Given the description of an element on the screen output the (x, y) to click on. 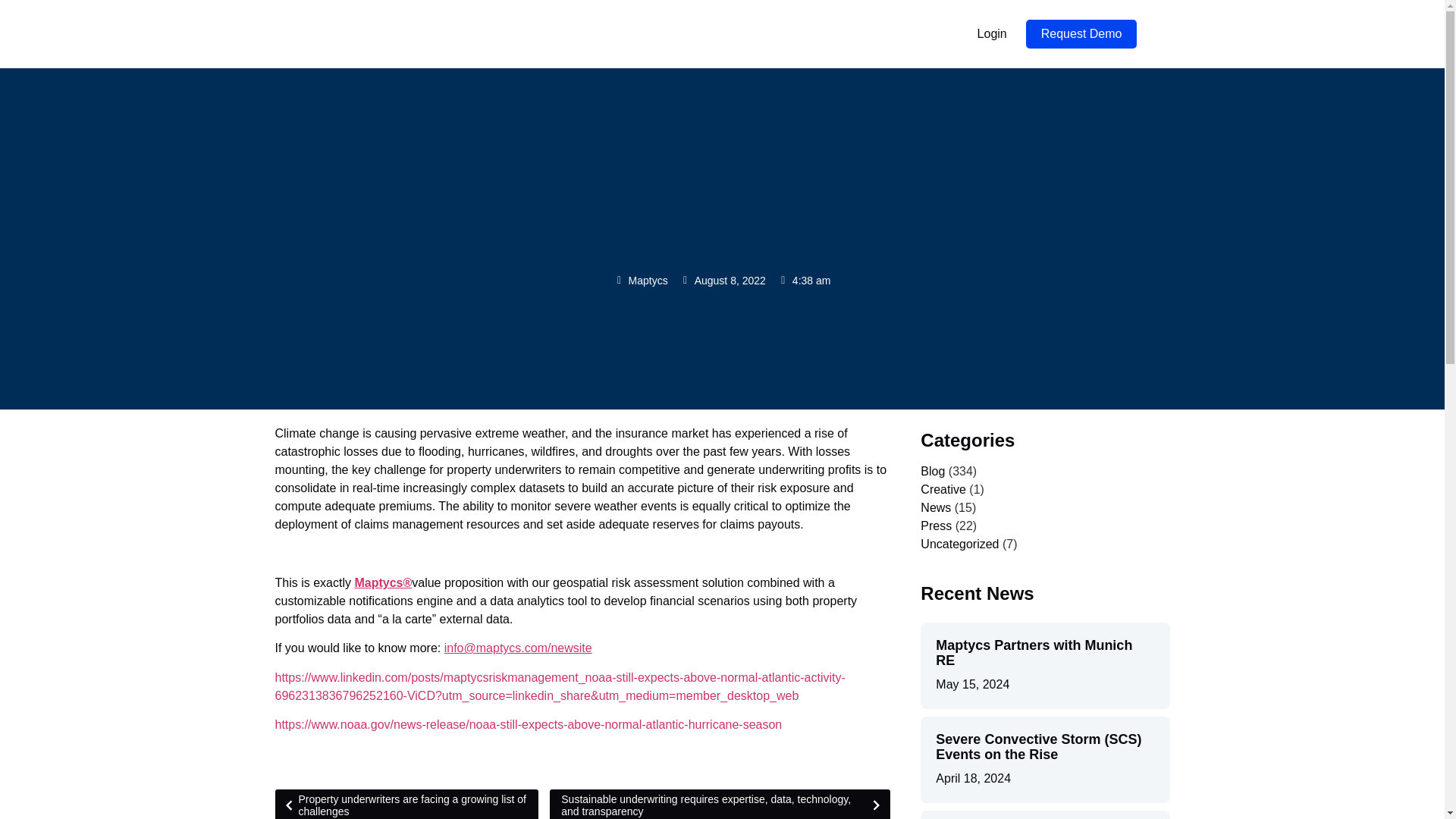
Uncategorized (959, 543)
Blog (932, 471)
News (935, 507)
Maptycs Partners with Munich RE (1034, 653)
Request Demo (1081, 33)
April 18, 2024 (973, 778)
Newsroom (739, 33)
Who We Serve (652, 33)
About (513, 33)
May 15, 2024 (972, 684)
Resources (817, 33)
Creative (943, 489)
Login (991, 33)
